Given the description of an element on the screen output the (x, y) to click on. 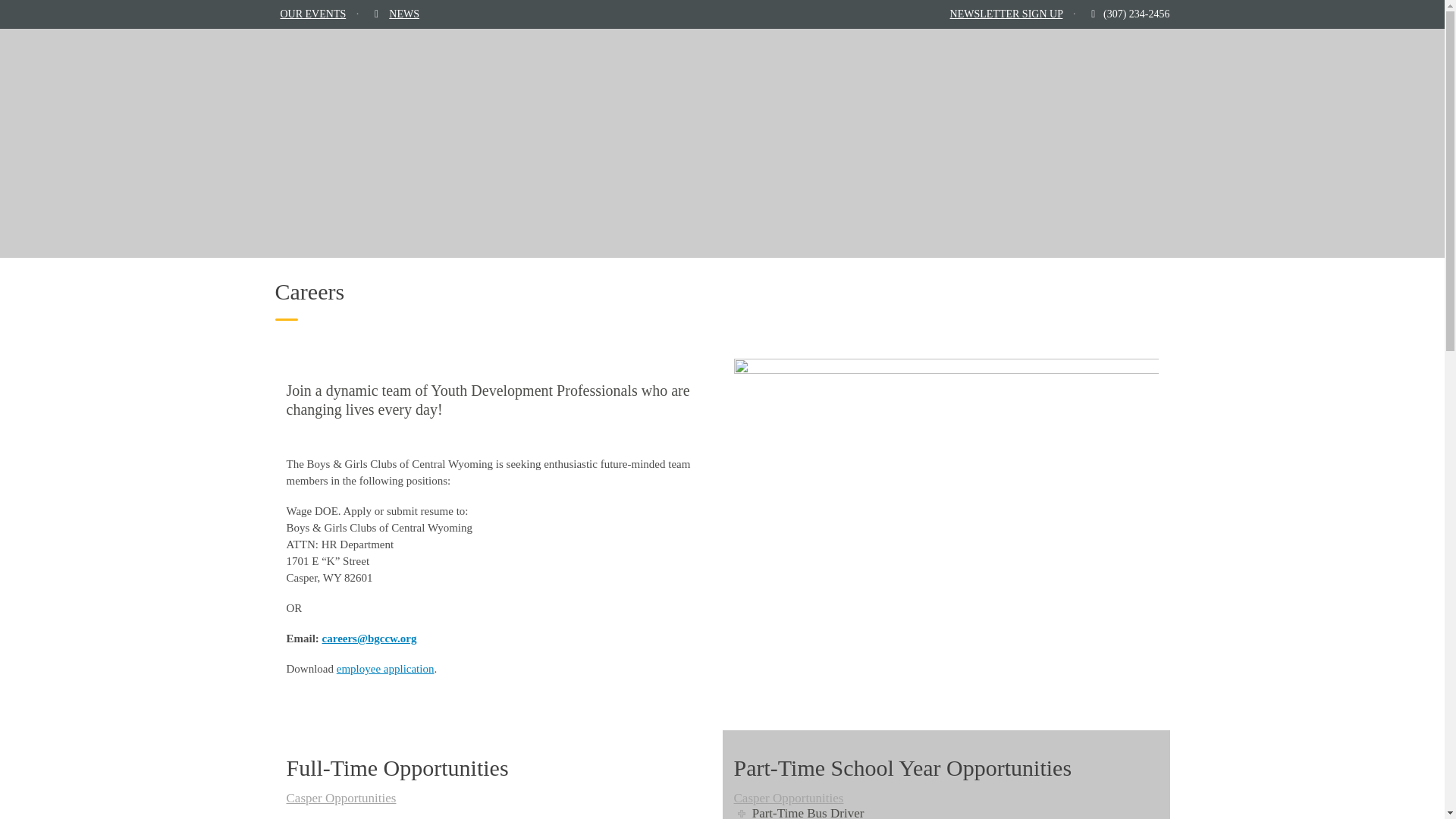
NEWSLETTER SIGN UP (1006, 13)
NEWS (403, 13)
OUR EVENTS (313, 13)
